Given the description of an element on the screen output the (x, y) to click on. 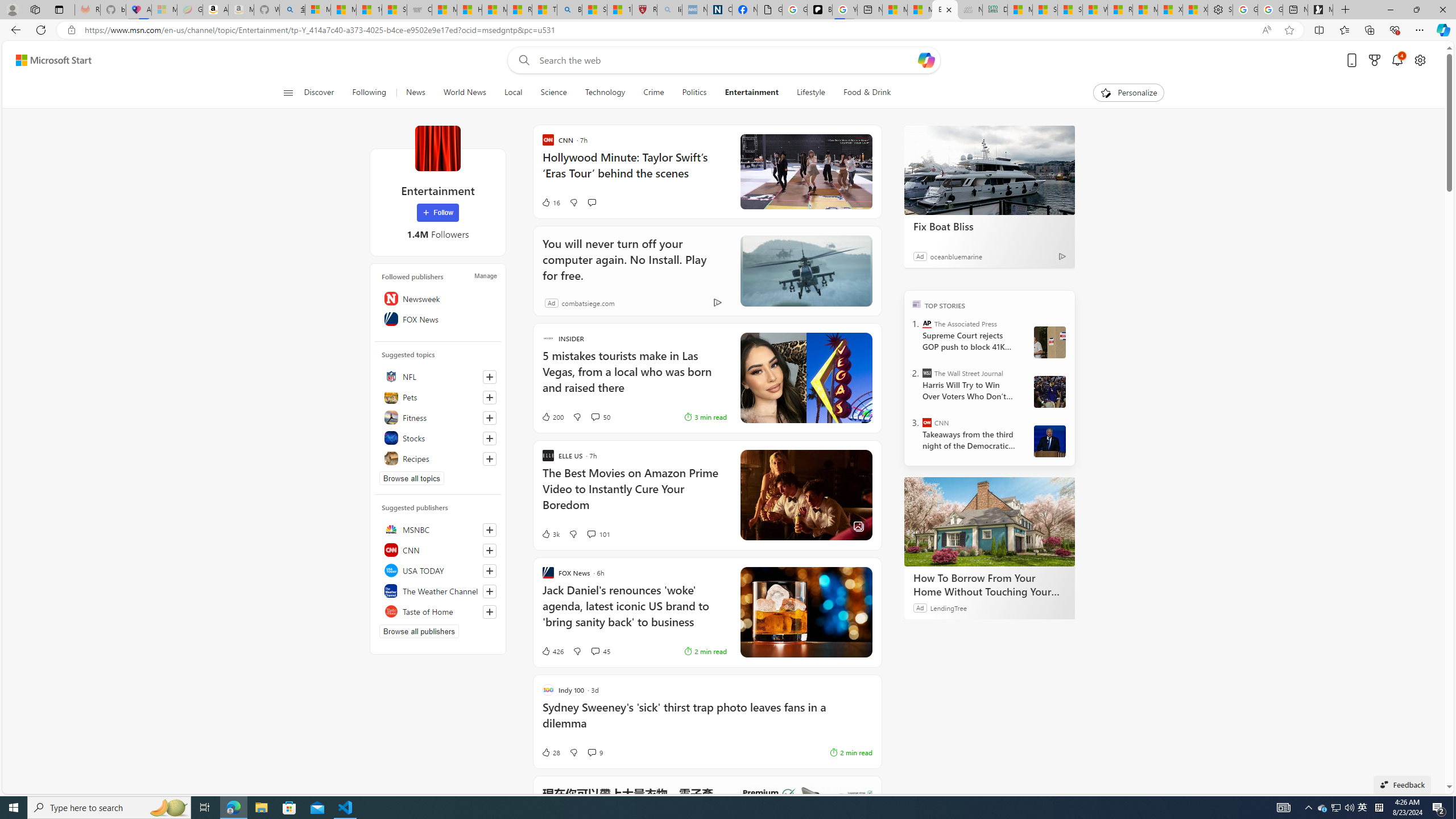
World News (464, 92)
View comments 9 Comment (591, 751)
Enter your search term (726, 59)
Browse all topics (412, 477)
How To Borrow From Your Home Without Touching Your Mortgage (988, 584)
